Given the description of an element on the screen output the (x, y) to click on. 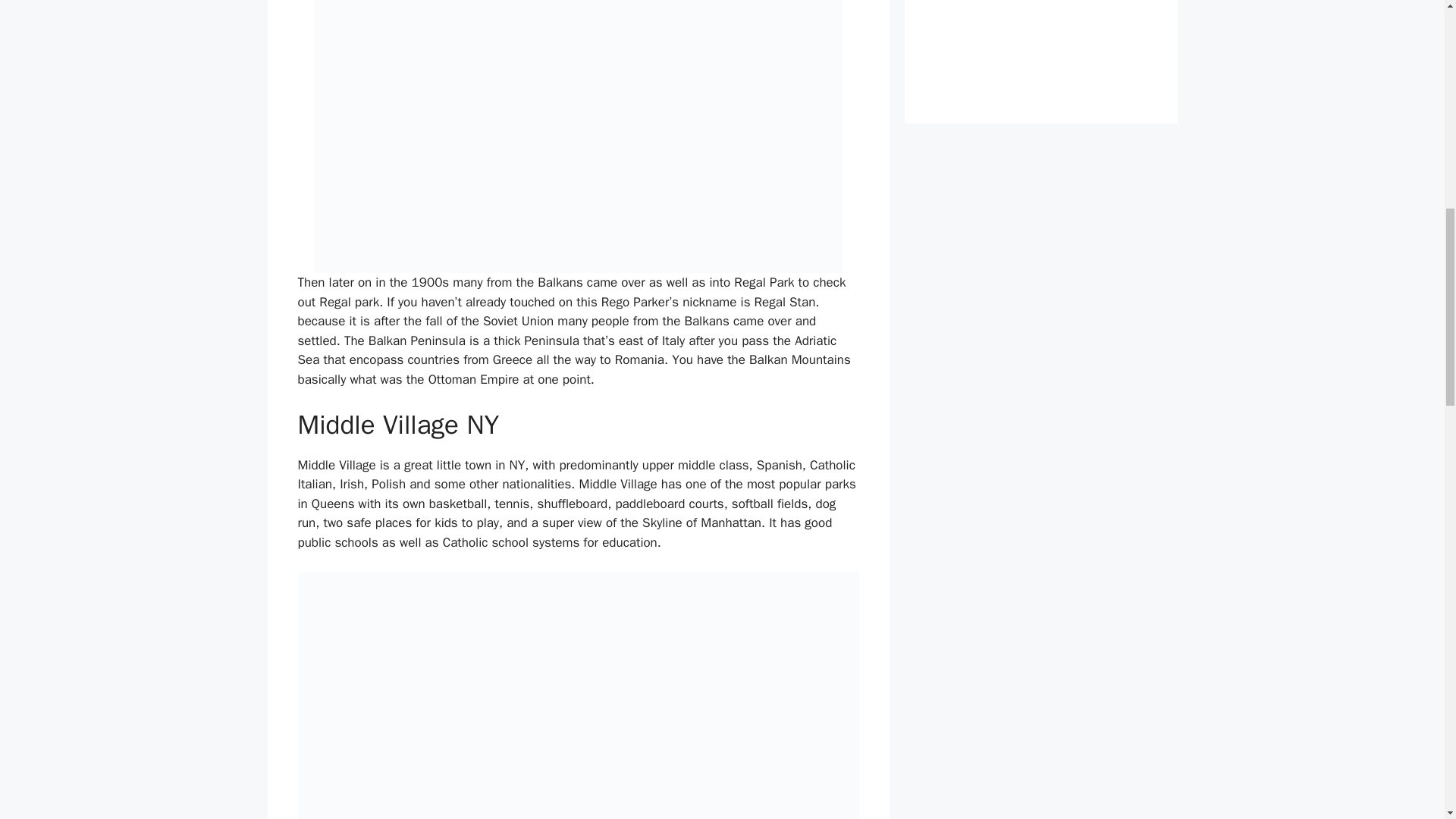
Scroll back to top (1406, 720)
